Given the description of an element on the screen output the (x, y) to click on. 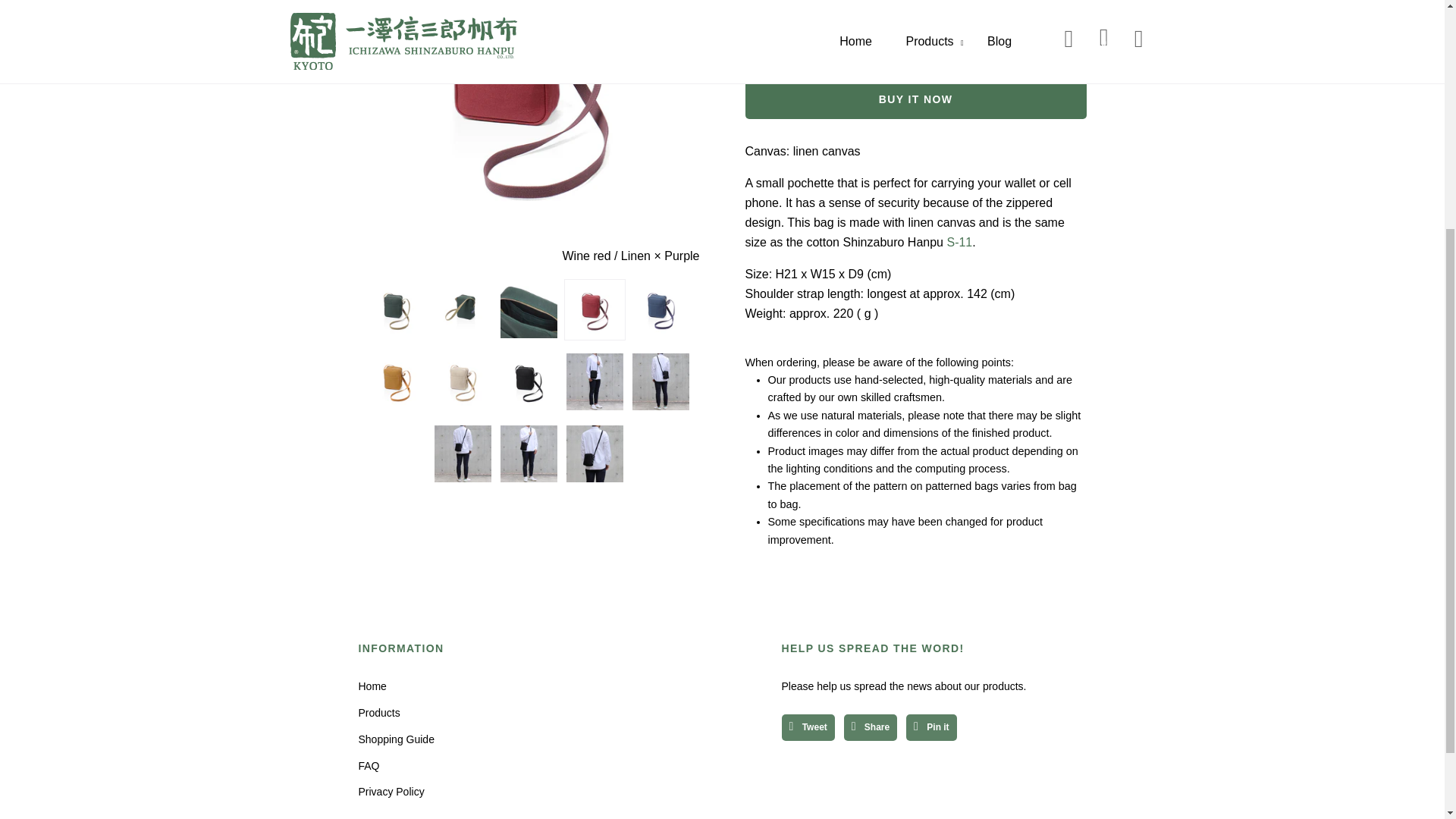
1 (833, 3)
Add to cart (915, 48)
